Given the description of an element on the screen output the (x, y) to click on. 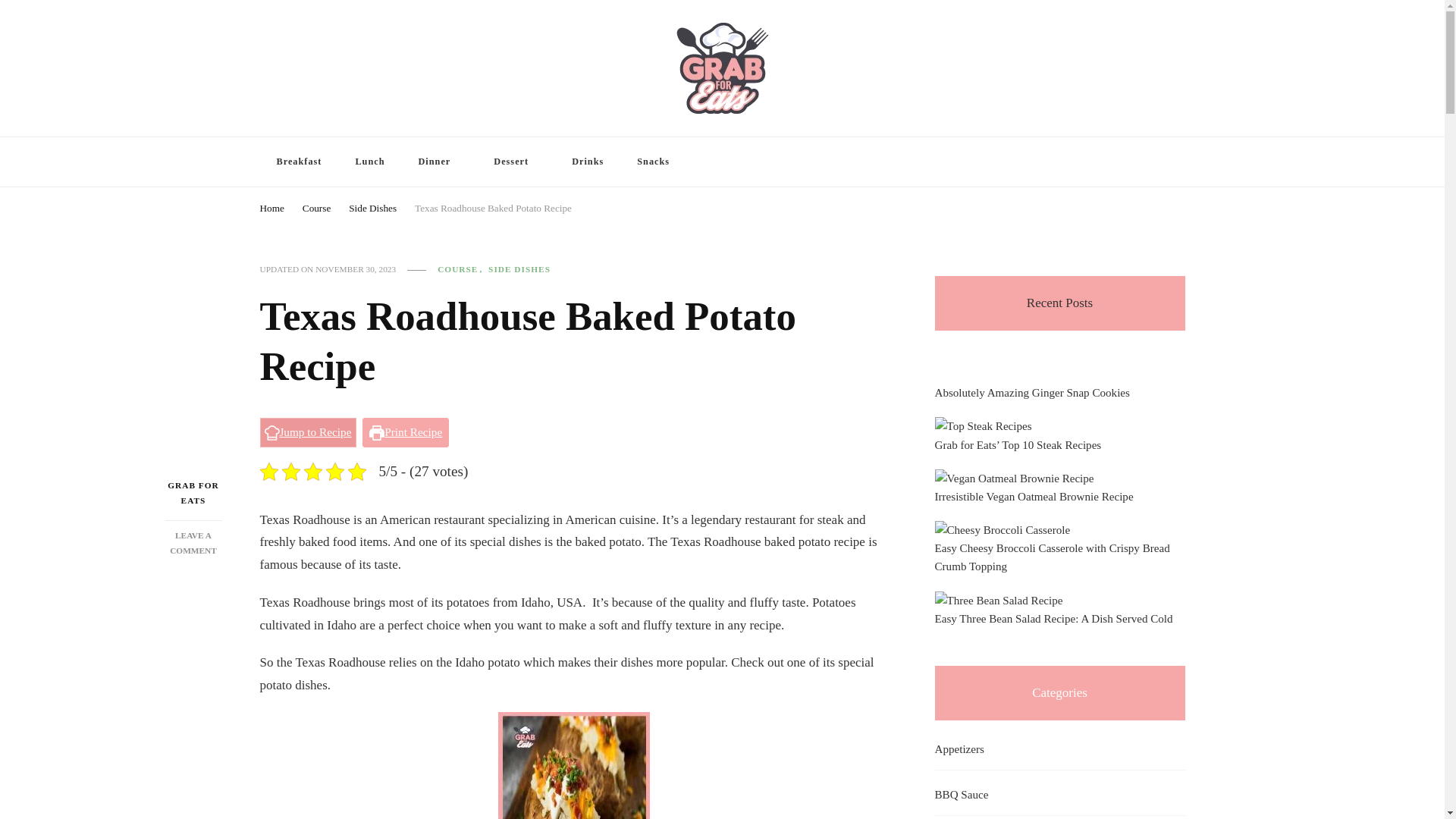
COURSE (462, 269)
Texas Roadhouse Baked Potato Recipe (493, 206)
Dessert (515, 161)
Snacks (652, 161)
Side Dishes (372, 206)
Home (193, 542)
NOVEMBER 30, 2023 (271, 206)
Drinks (355, 269)
SIDE DISHES (587, 161)
Breakfast (518, 269)
Search (298, 161)
Lunch (1148, 163)
Course (369, 161)
Dinner (316, 206)
